Given the description of an element on the screen output the (x, y) to click on. 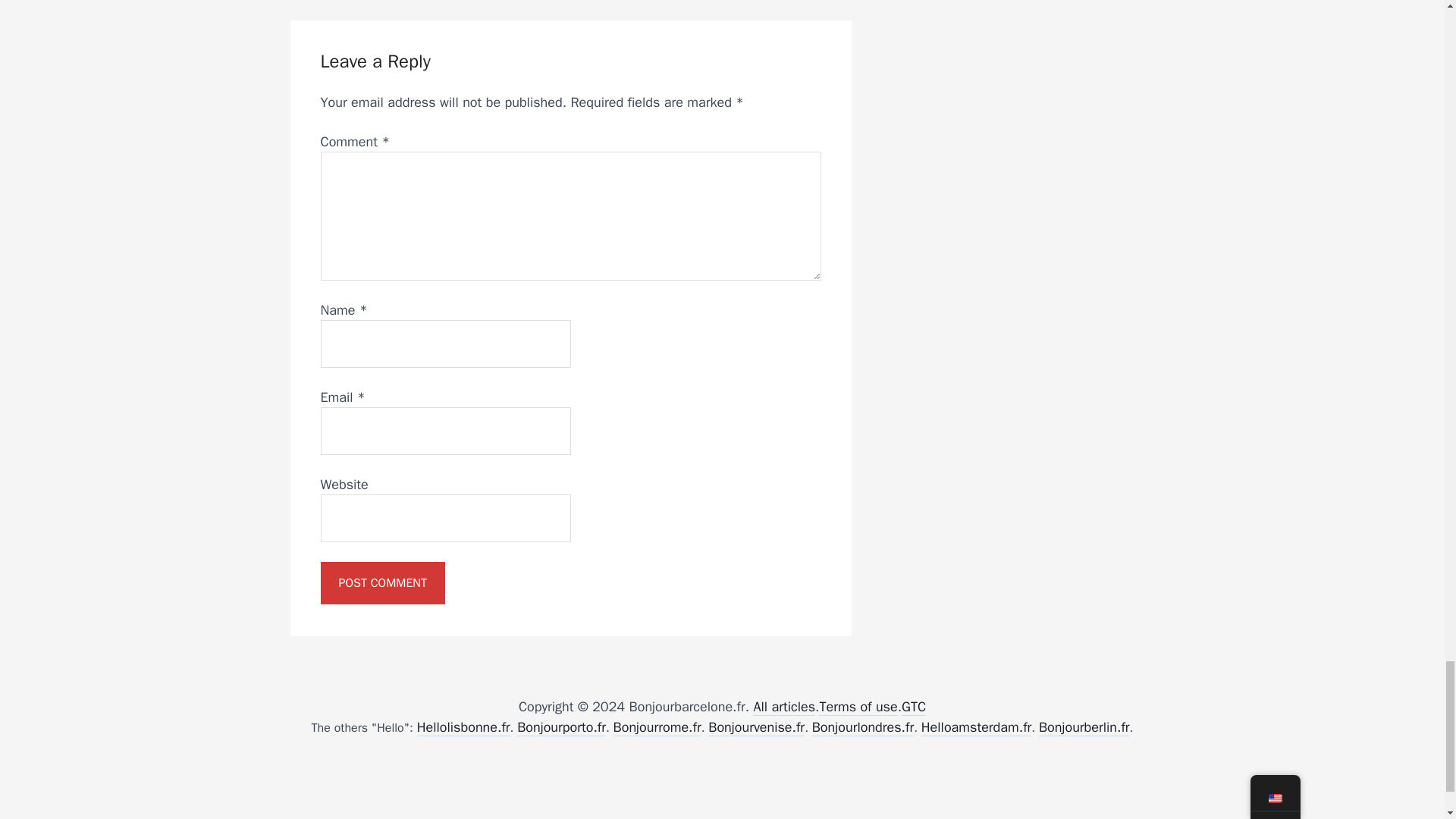
Bonjourporto.fr (560, 727)
Bonjourlondres.fr (863, 727)
Bonjourvenise.fr (756, 727)
Bonjourrome.fr (656, 727)
legal information (857, 706)
Post Comment (382, 582)
Terms of use (857, 706)
GTC (913, 706)
all articles (783, 706)
Bonjourberlin.fr (1084, 727)
Helloamsterdam.fr (976, 727)
Post Comment (382, 582)
cgv (913, 706)
All articles (783, 706)
Hellolisbonne.fr (463, 727)
